Given the description of an element on the screen output the (x, y) to click on. 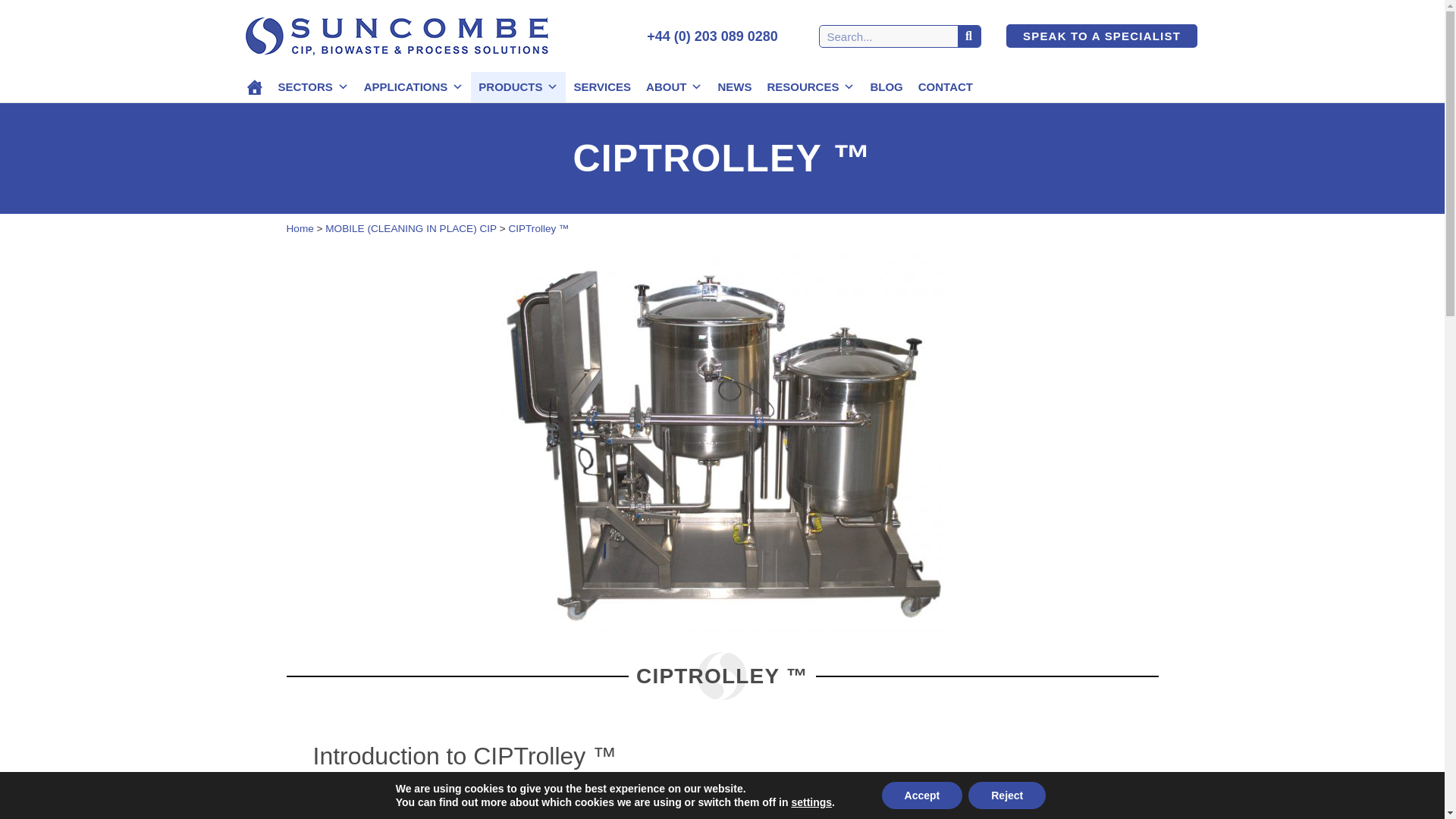
SPEAK TO A SPECIALIST (1101, 35)
